Given the description of an element on the screen output the (x, y) to click on. 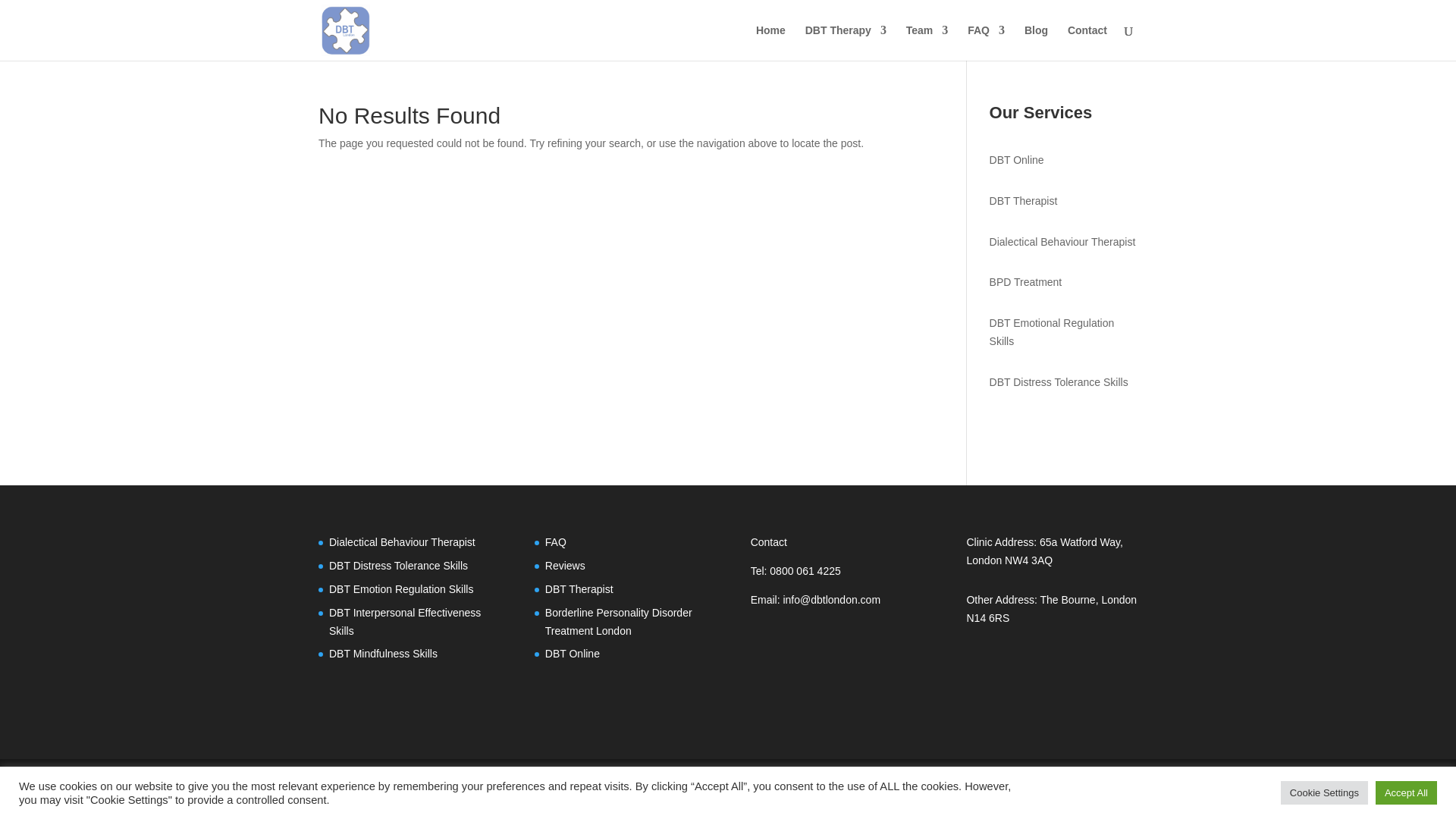
Dialectical Behaviour Therapist (1062, 241)
DBT Online (1016, 159)
FAQ (986, 42)
DBT Therapist (1024, 200)
Team (927, 42)
Contact (1086, 42)
DBT Therapy (845, 42)
